Given the description of an element on the screen output the (x, y) to click on. 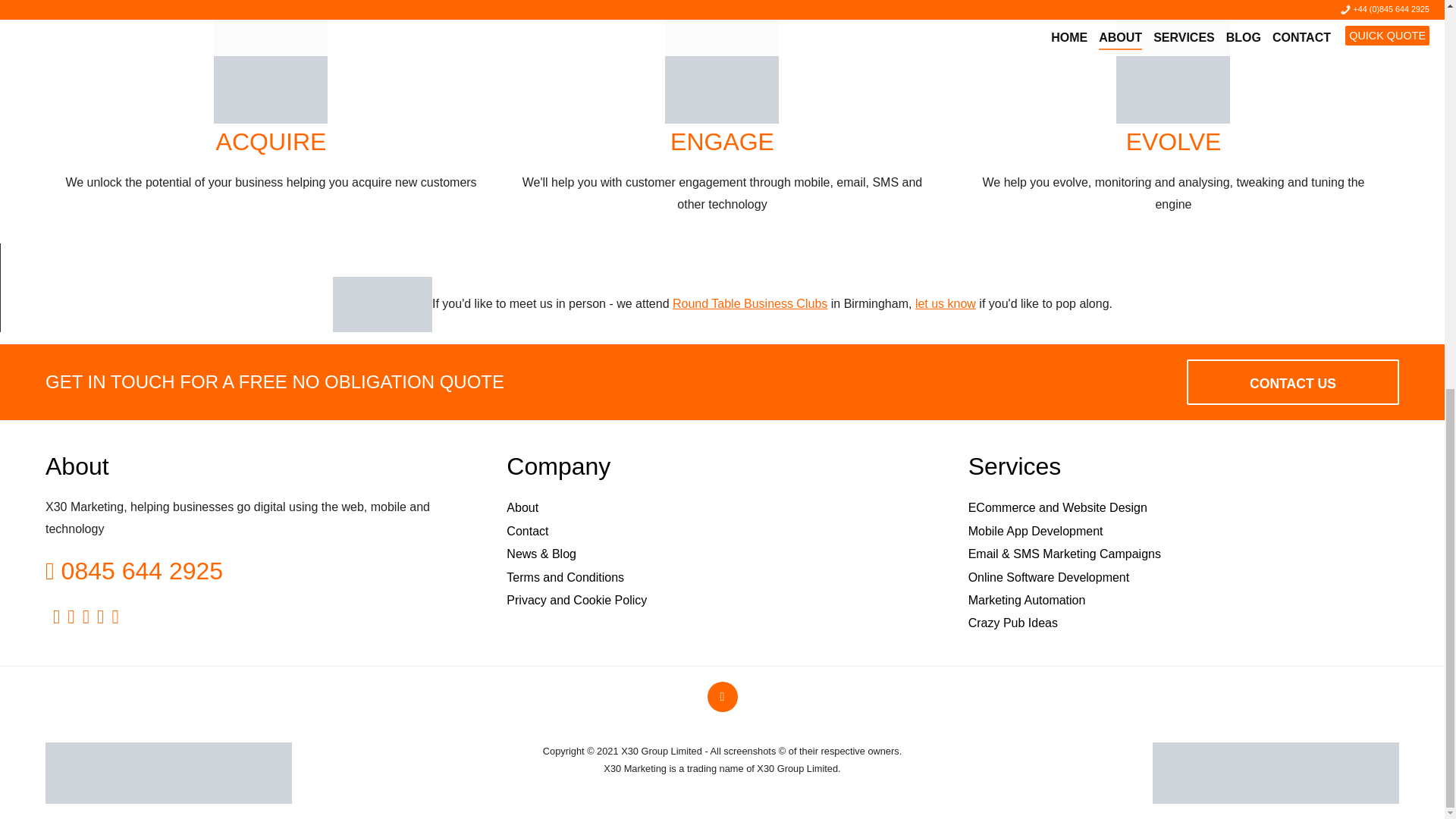
Contact (527, 530)
Marketing Automation (1027, 599)
About (522, 507)
Round Table Business Clubs (749, 303)
Crazy Pub Ideas (1013, 622)
CONTACT US (1292, 381)
let us know (945, 303)
Mobile App Development (1035, 530)
Privacy and Cookie Policy (576, 599)
Terms and Conditions (565, 576)
